Given the description of an element on the screen output the (x, y) to click on. 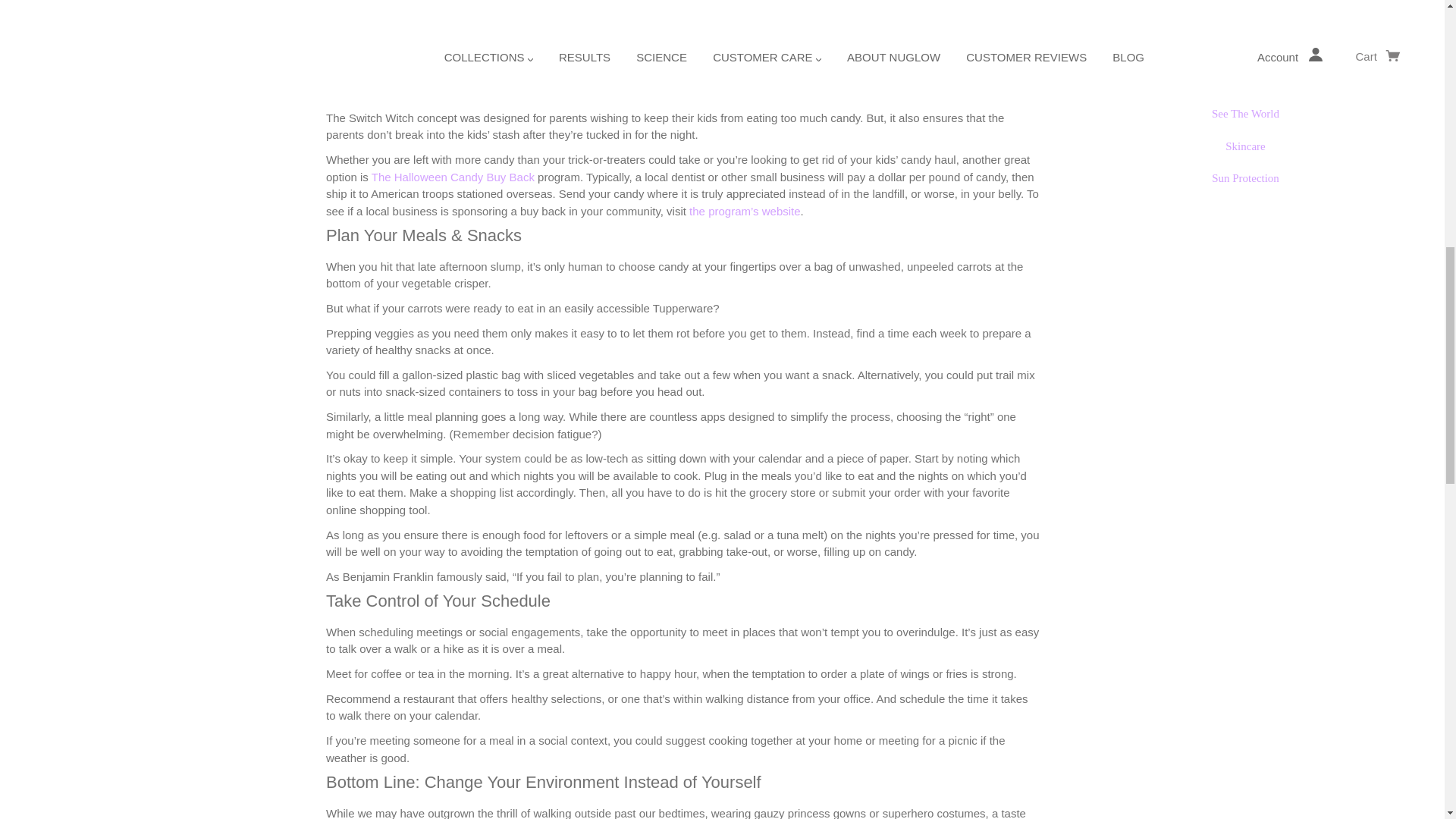
The Halloween Candy Buy Back (452, 176)
Local Businesses Sponsor a Halloween Candy Buy Back (743, 210)
The Switch Witch Magic Switchcraft Halloween (381, 51)
